Given the description of an element on the screen output the (x, y) to click on. 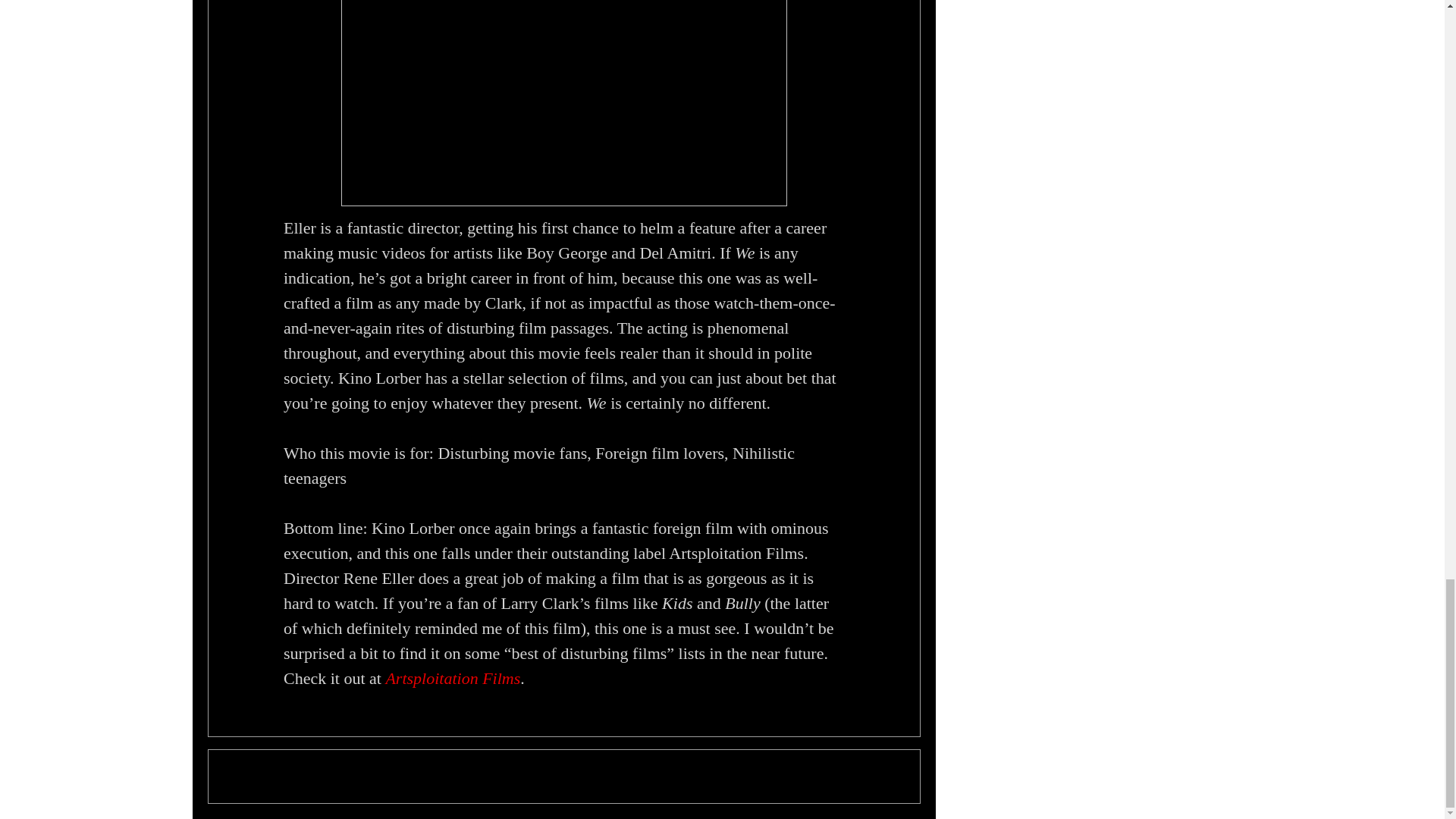
Artsploitation Films (452, 678)
